Given the description of an element on the screen output the (x, y) to click on. 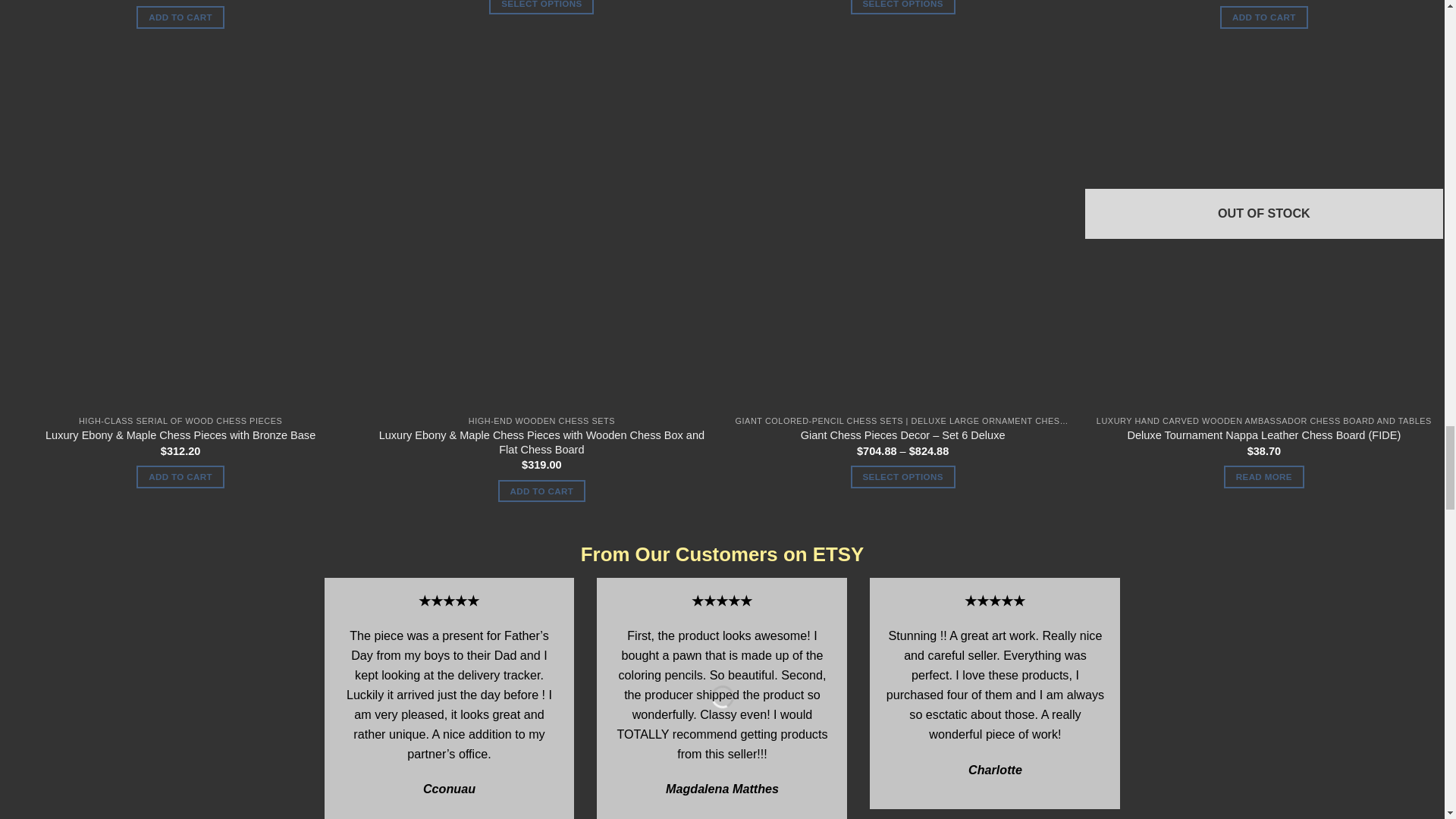
SELECT OPTIONS (902, 7)
SELECT OPTIONS (541, 7)
ADD TO CART (180, 16)
